Given the description of an element on the screen output the (x, y) to click on. 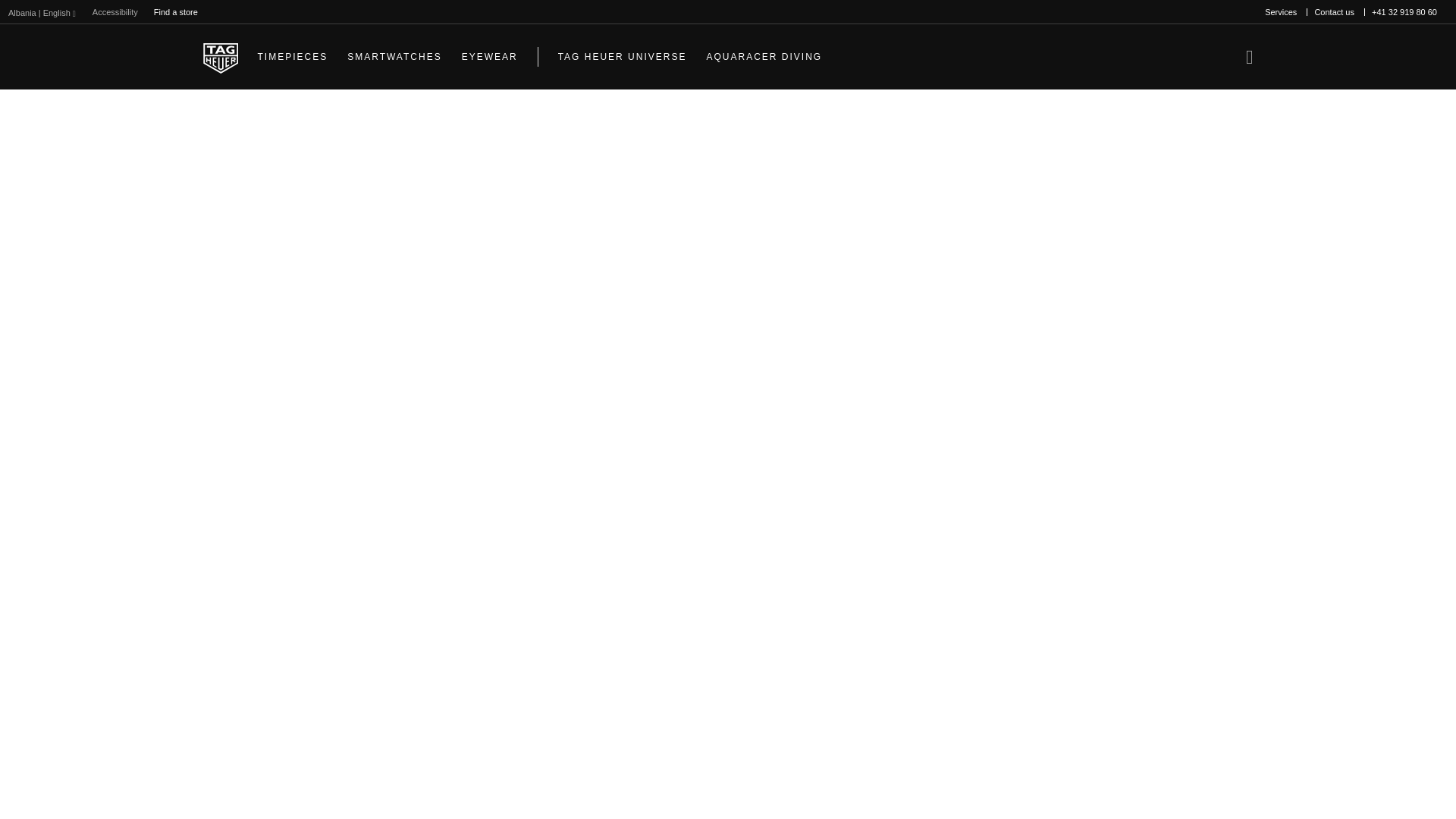
Services (1280, 12)
Accessibility (115, 12)
Contact us (1333, 12)
Homepage (220, 56)
TIMEPIECES (293, 56)
TAG Heuer logo" (220, 56)
Find a store (176, 11)
